Given the description of an element on the screen output the (x, y) to click on. 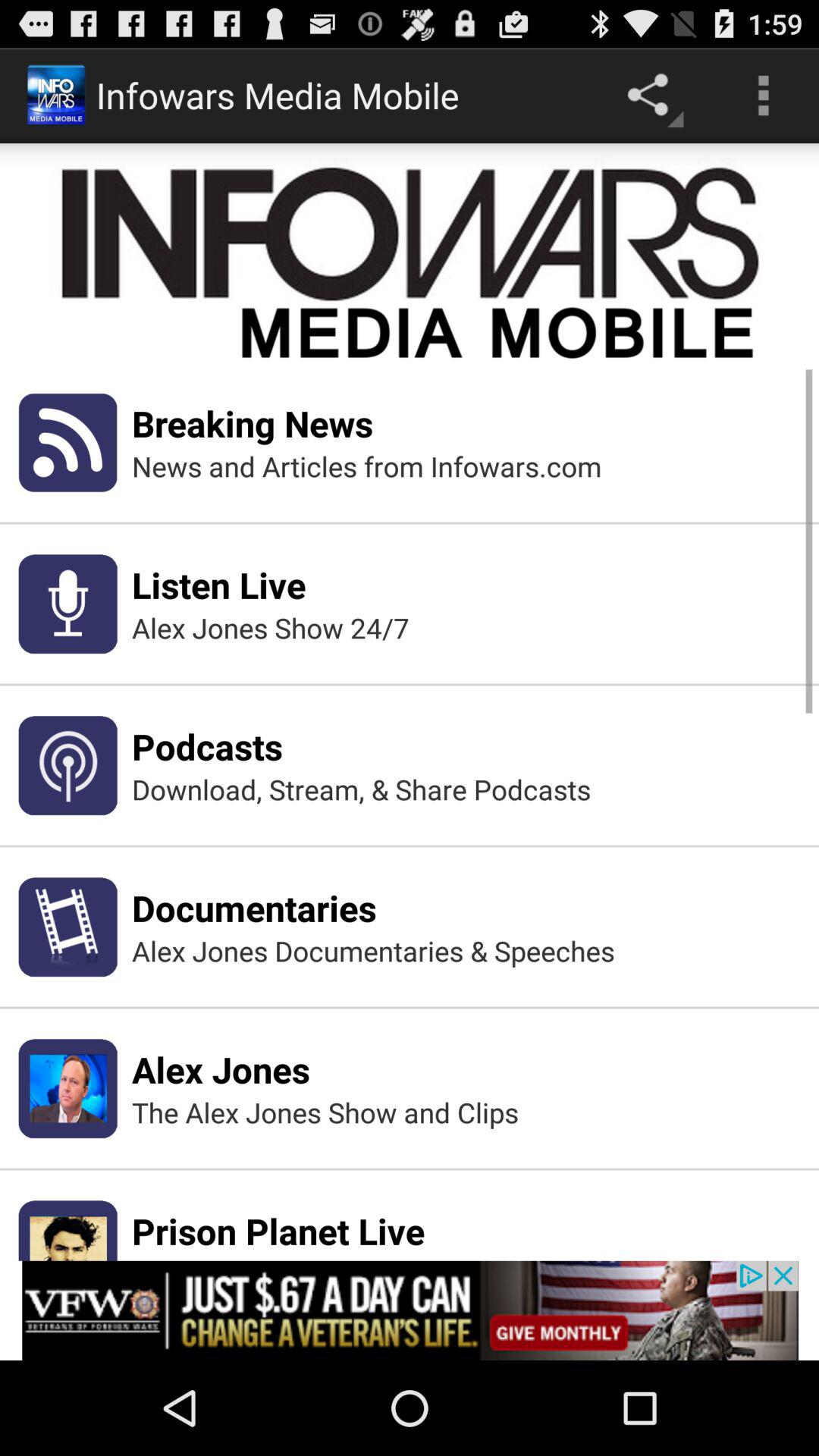
click on share button (651, 95)
select the menu button (763, 95)
click on icon above the mic icon on left side (67, 442)
icon before alex jones (67, 1087)
